Given the description of an element on the screen output the (x, y) to click on. 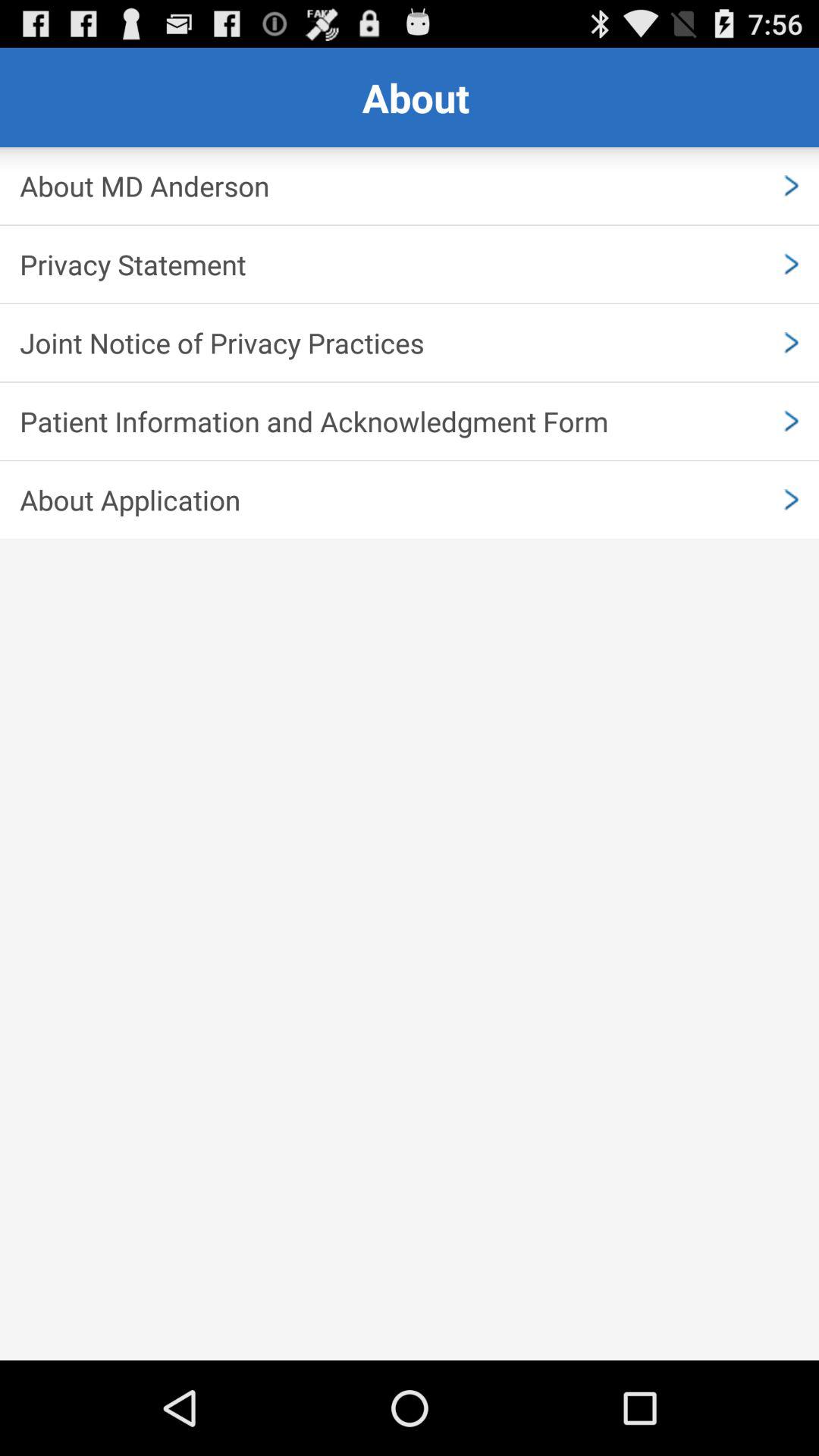
jump until about application icon (409, 499)
